Given the description of an element on the screen output the (x, y) to click on. 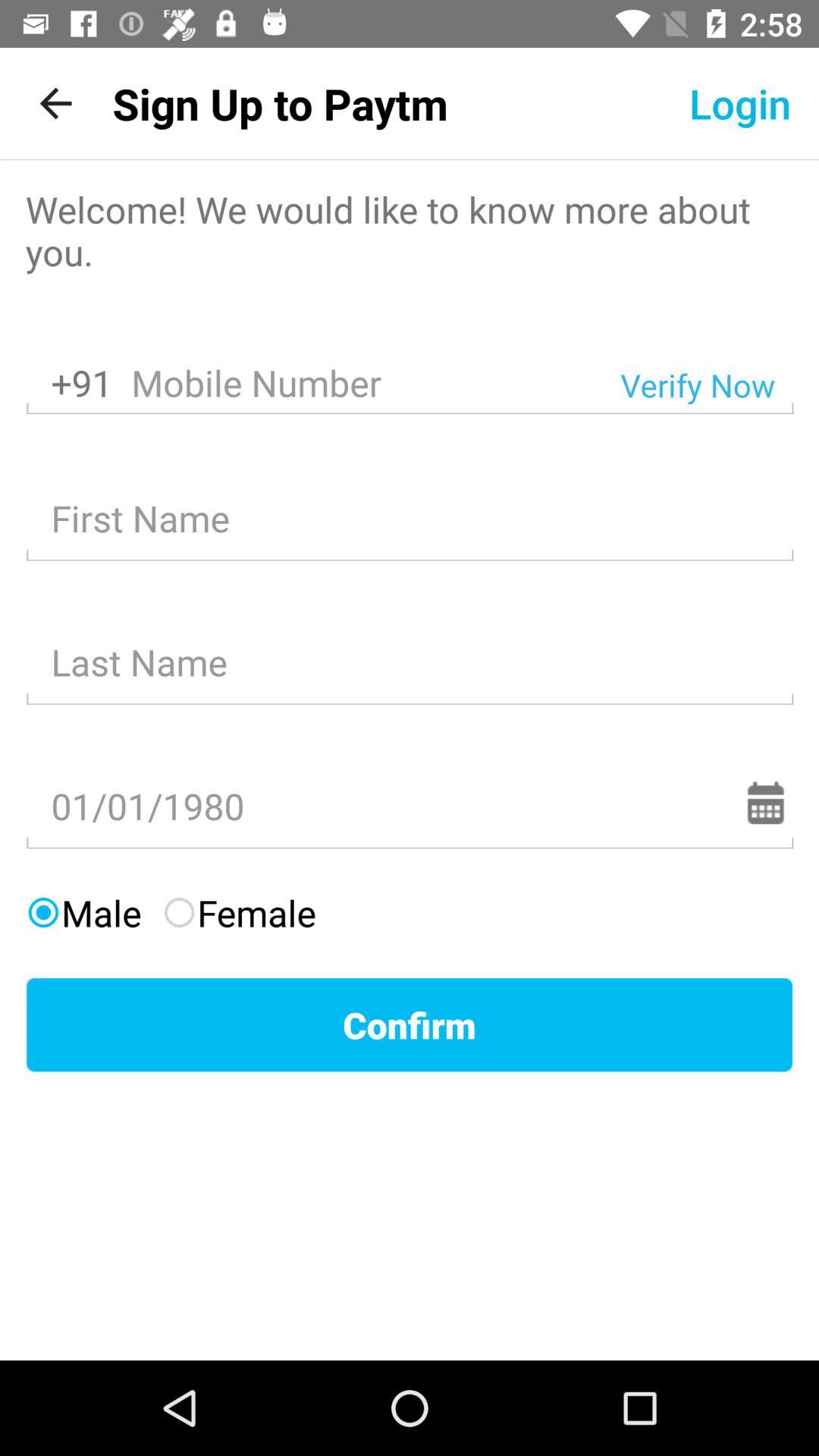
press male (83, 912)
